Given the description of an element on the screen output the (x, y) to click on. 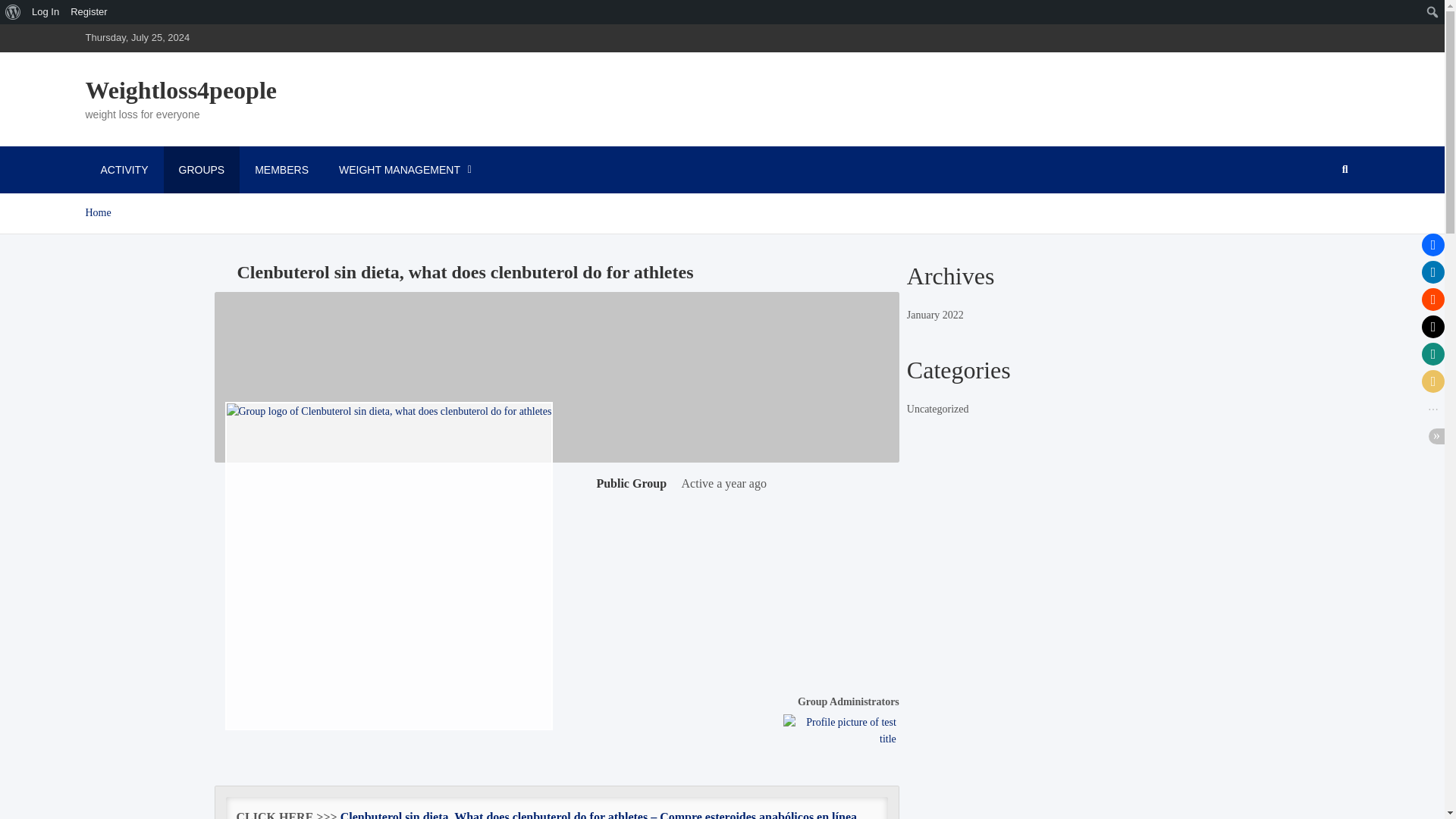
Register (89, 12)
Search (15, 12)
WEIGHT MANAGEMENT (403, 169)
MEMBERS (281, 169)
Weightloss4people (180, 90)
January 2022 (935, 315)
ACTIVITY (123, 169)
Uncategorized (938, 408)
Home (97, 212)
GROUPS (201, 169)
Log In (45, 12)
